Given the description of an element on the screen output the (x, y) to click on. 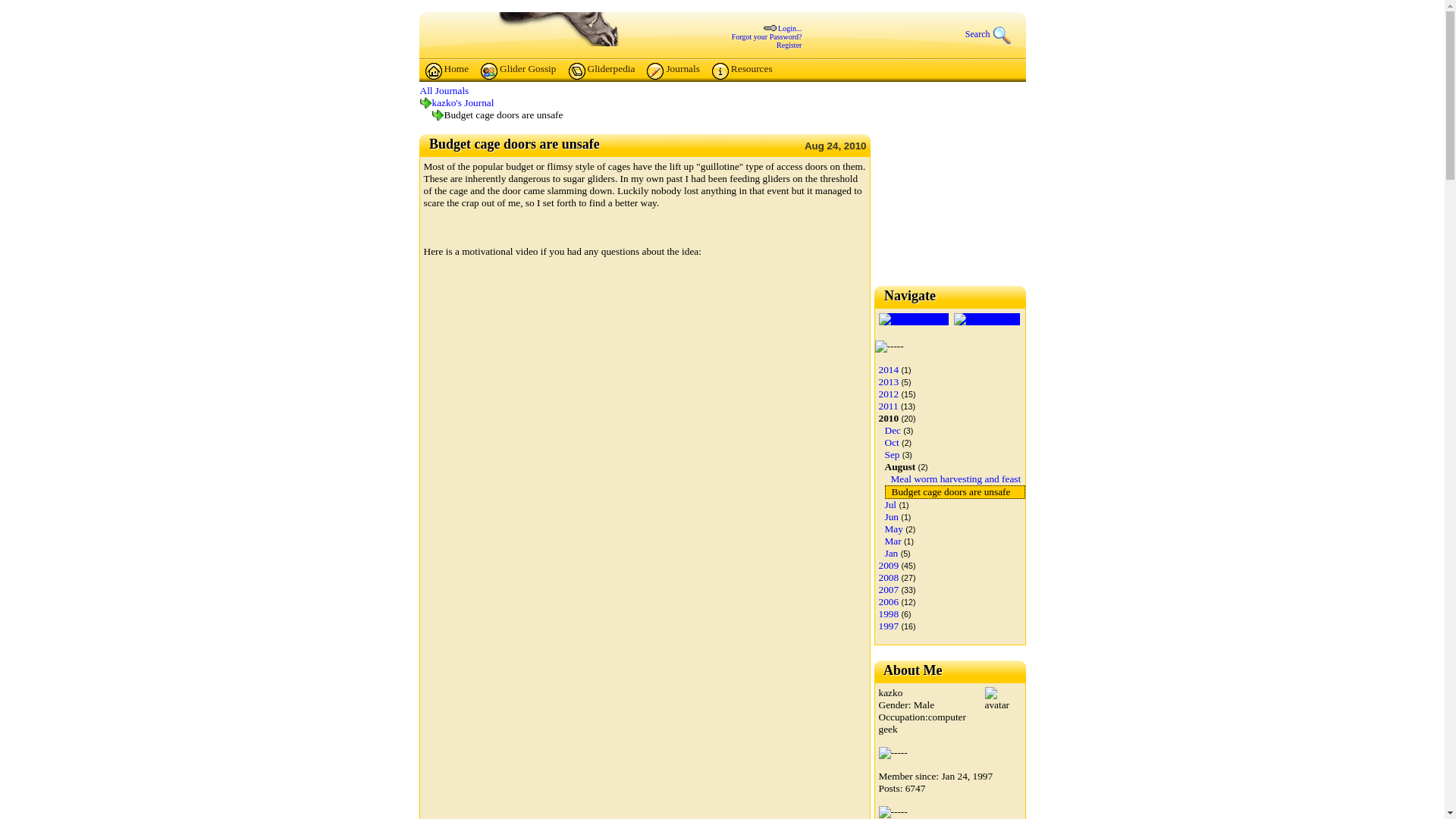
Gliderpedia (601, 71)
Glider Gossip (518, 71)
2014 (887, 369)
2012 (887, 393)
Resources (742, 71)
kazko's Journal (463, 102)
All Journals (444, 90)
Forgot your Password? (767, 36)
Home (446, 71)
Journals (672, 71)
